Given the description of an element on the screen output the (x, y) to click on. 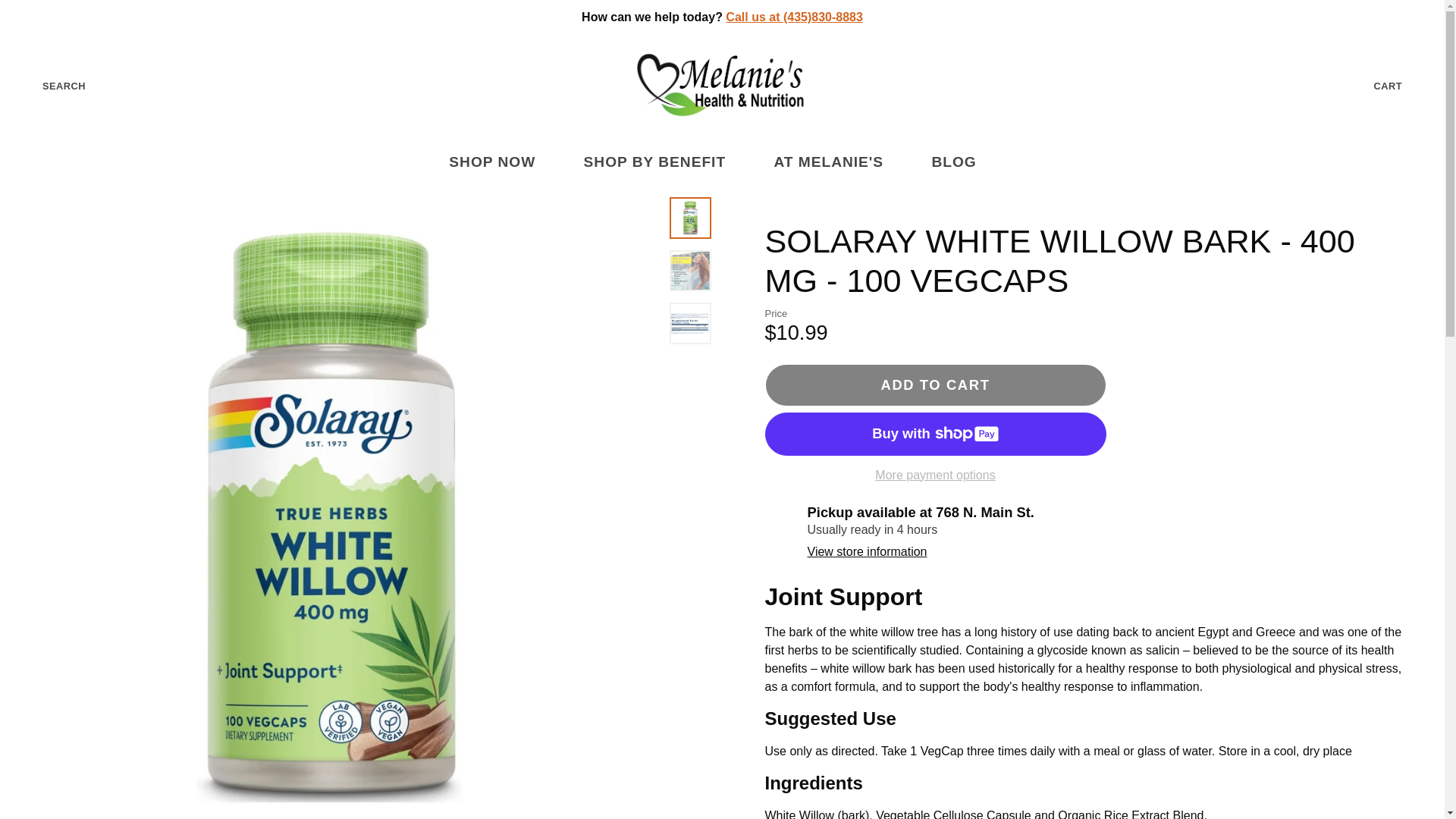
SHOP BY BENEFIT (663, 162)
SEARCH (51, 85)
BLOG (963, 162)
SHOP NOW (501, 162)
CART (1399, 85)
AT MELANIE'S (837, 162)
ADD TO CART (934, 384)
